Given the description of an element on the screen output the (x, y) to click on. 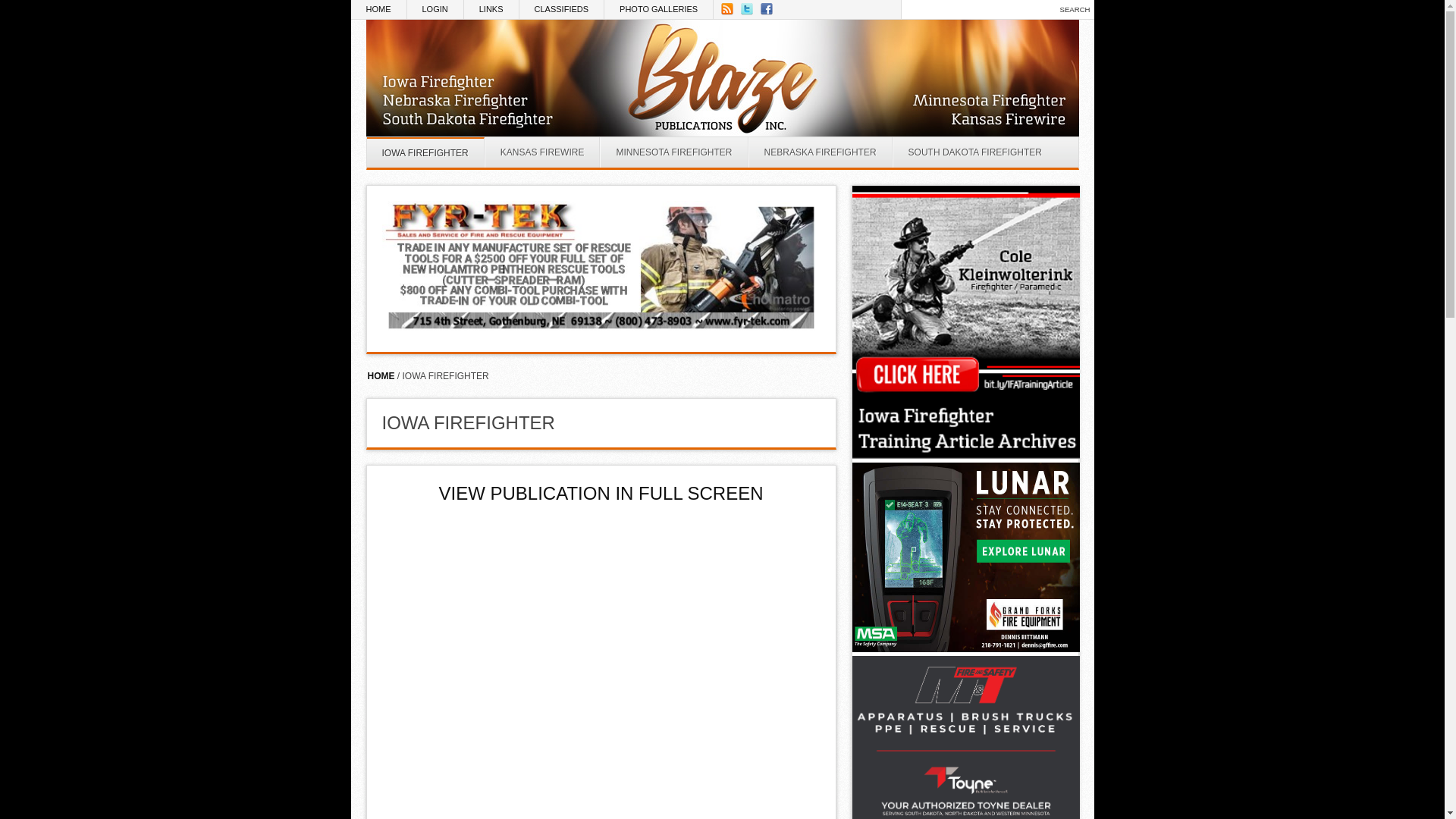
Enter the terms you wish to search for. (976, 9)
South Dakota Firefighter (974, 152)
HOME (378, 9)
VIEW PUBLICATION IN FULL SCREEN (600, 493)
LOGIN (434, 9)
MINNESOTA FIREFIGHTER (673, 152)
NEBRASKA FIREFIGHTER (820, 152)
KANSAS FIREWIRE (541, 152)
CLASSIFIEDS (562, 9)
Search (1075, 9)
Iowa Firefighter (425, 152)
Kansas Firewire (541, 152)
LINKS (491, 9)
Nebraska Firefighter (820, 152)
